Given the description of an element on the screen output the (x, y) to click on. 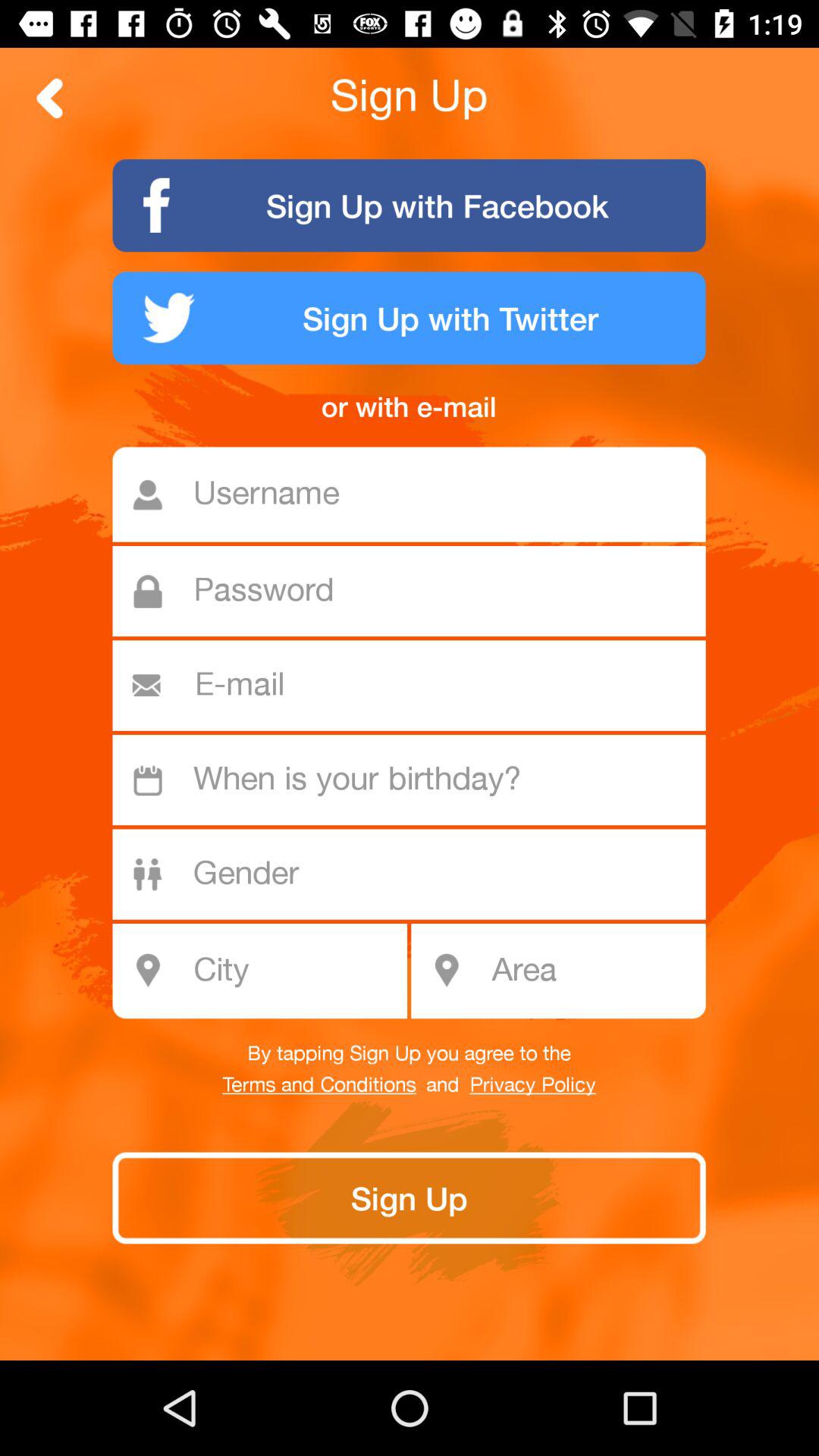
input your gender (417, 874)
